Given the description of an element on the screen output the (x, y) to click on. 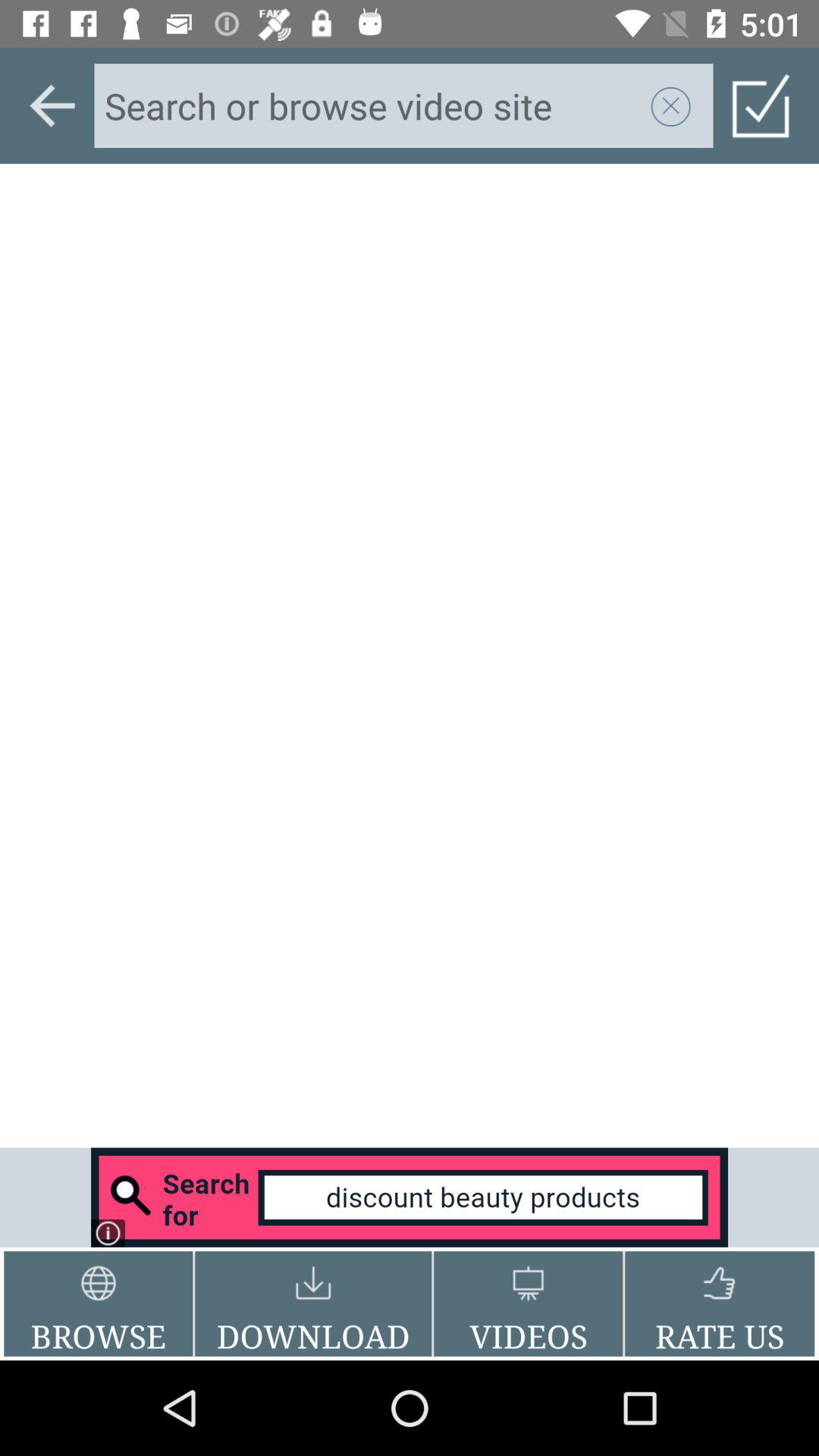
open the download icon (313, 1303)
